Given the description of an element on the screen output the (x, y) to click on. 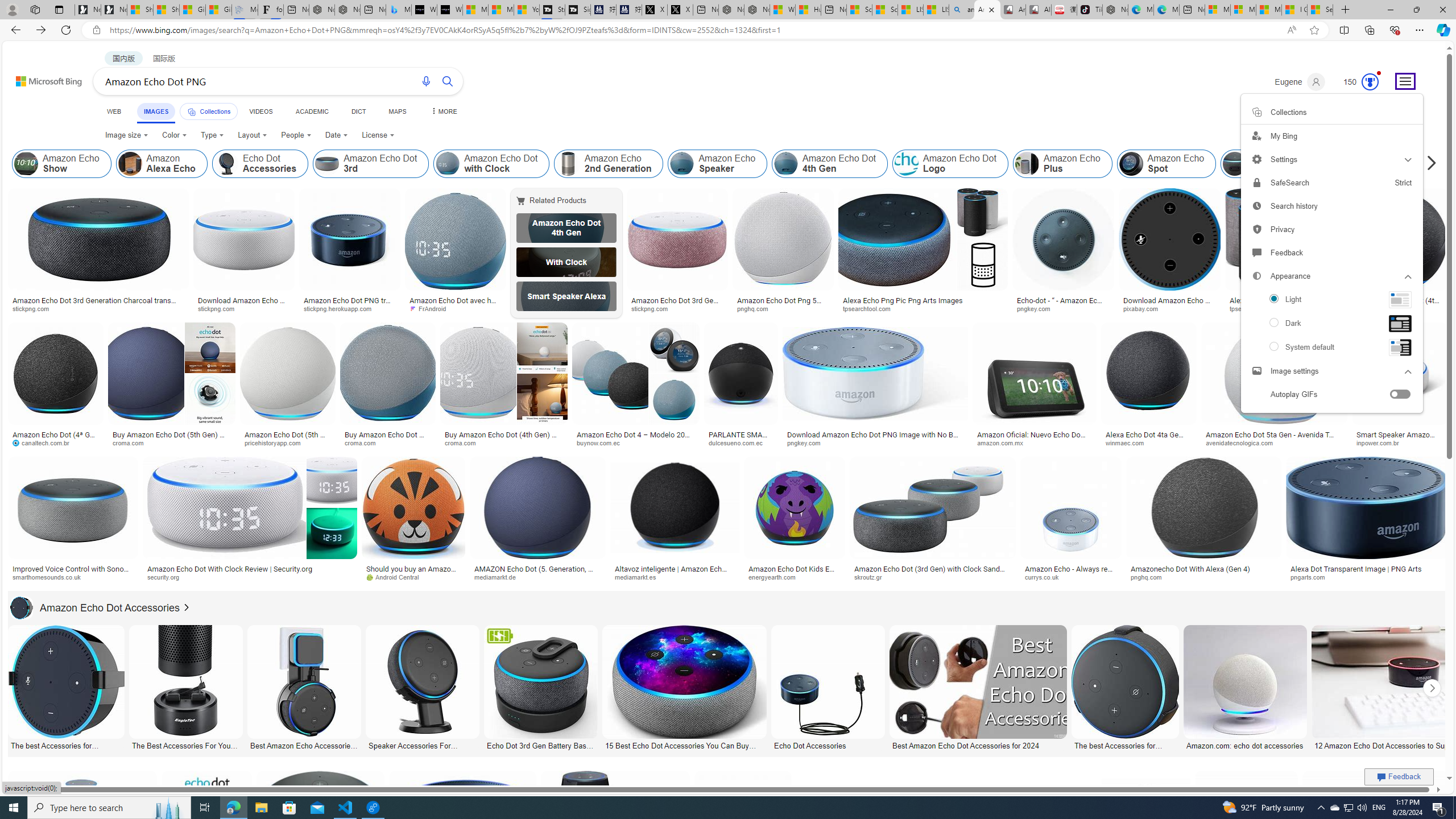
smarthomesounds.co.uk (73, 576)
tpsearchtool.com (1257, 308)
Search using voice (426, 80)
pnghq.com (1150, 576)
Amazon Echo - Always ready, connected and fast. Just ask. (1070, 572)
